Given the description of an element on the screen output the (x, y) to click on. 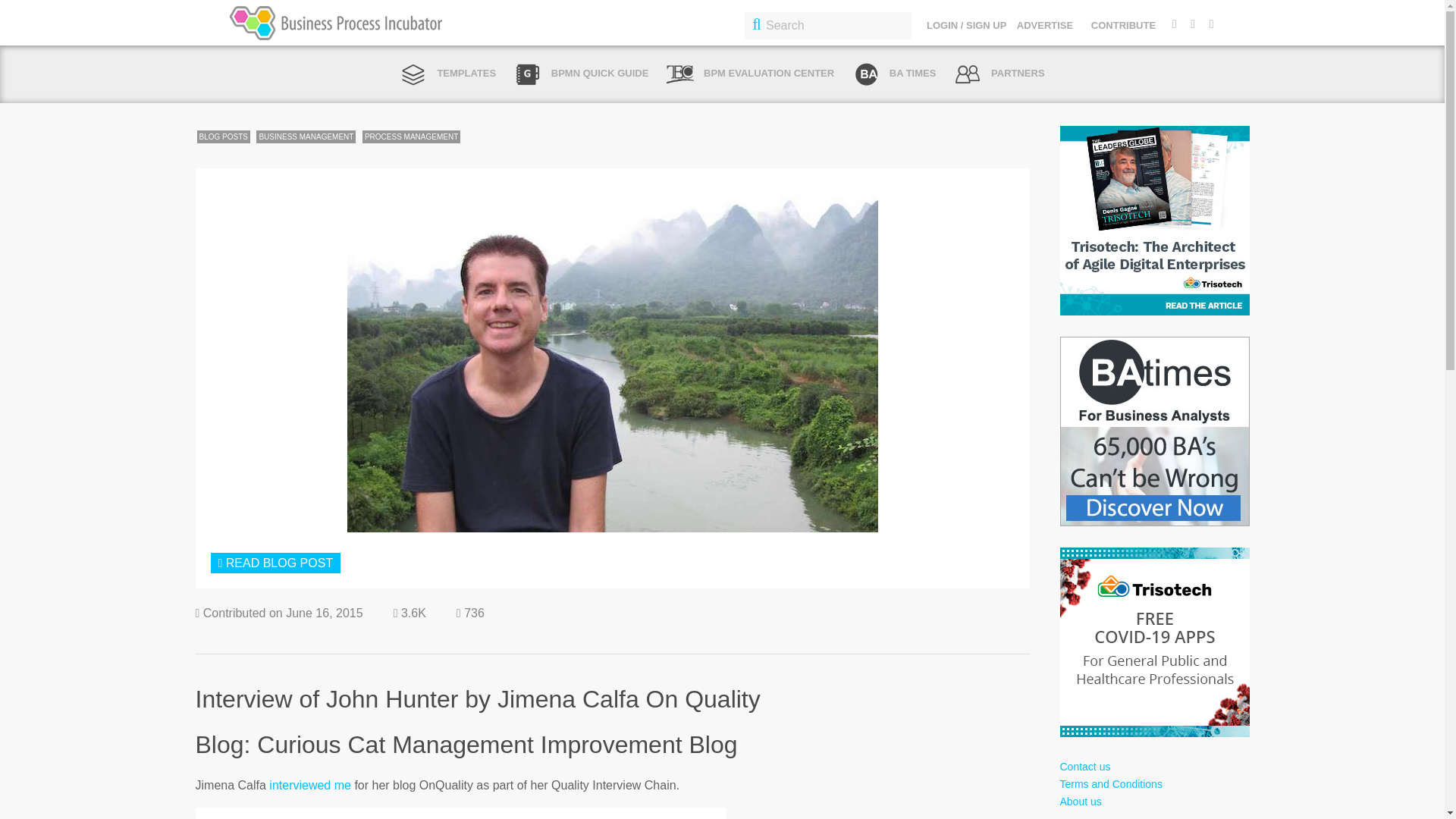
Partners (999, 72)
Terms and Conditions (1110, 784)
BA TIMES (893, 72)
BLOG POSTS (223, 136)
Contact us (1084, 766)
TEMPLATES (447, 72)
PARTNERS (999, 72)
About us (1080, 801)
interviewed me (309, 784)
Login or Sign Up (275, 562)
BUSINESS MANAGEMENT (305, 136)
CONTRIBUTE (1123, 25)
Twitter (1174, 23)
READ BLOG POST (275, 562)
BPMN QUICK GUIDE (581, 72)
